Given the description of an element on the screen output the (x, y) to click on. 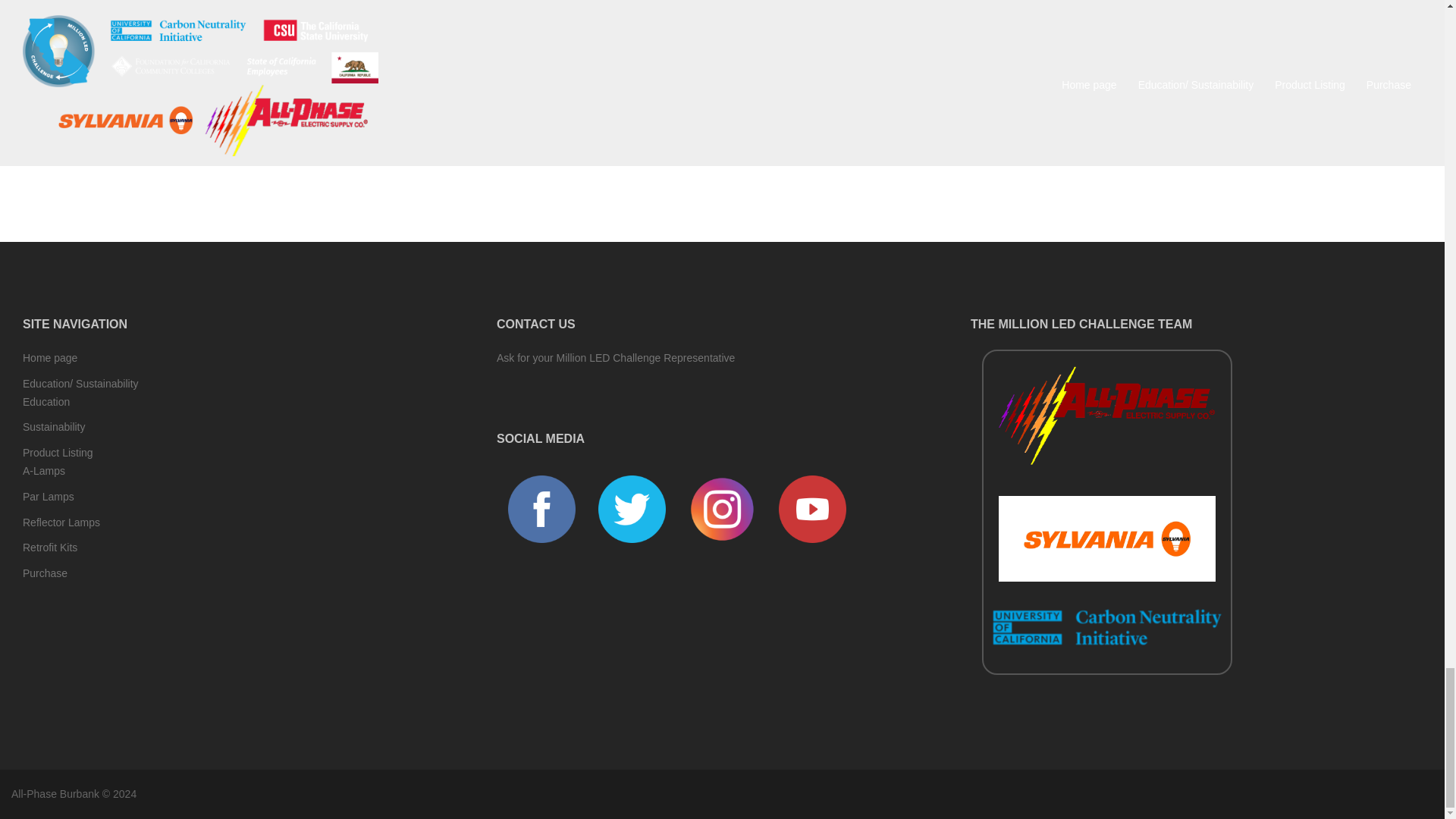
Home page (50, 357)
Education (46, 401)
Par Lamps (48, 496)
Product Listing (58, 452)
Sustainability (54, 426)
Retrofit Kits (50, 547)
A-Lamps (44, 470)
Purchase (44, 573)
Reflector Lamps (61, 522)
